Given the description of an element on the screen output the (x, y) to click on. 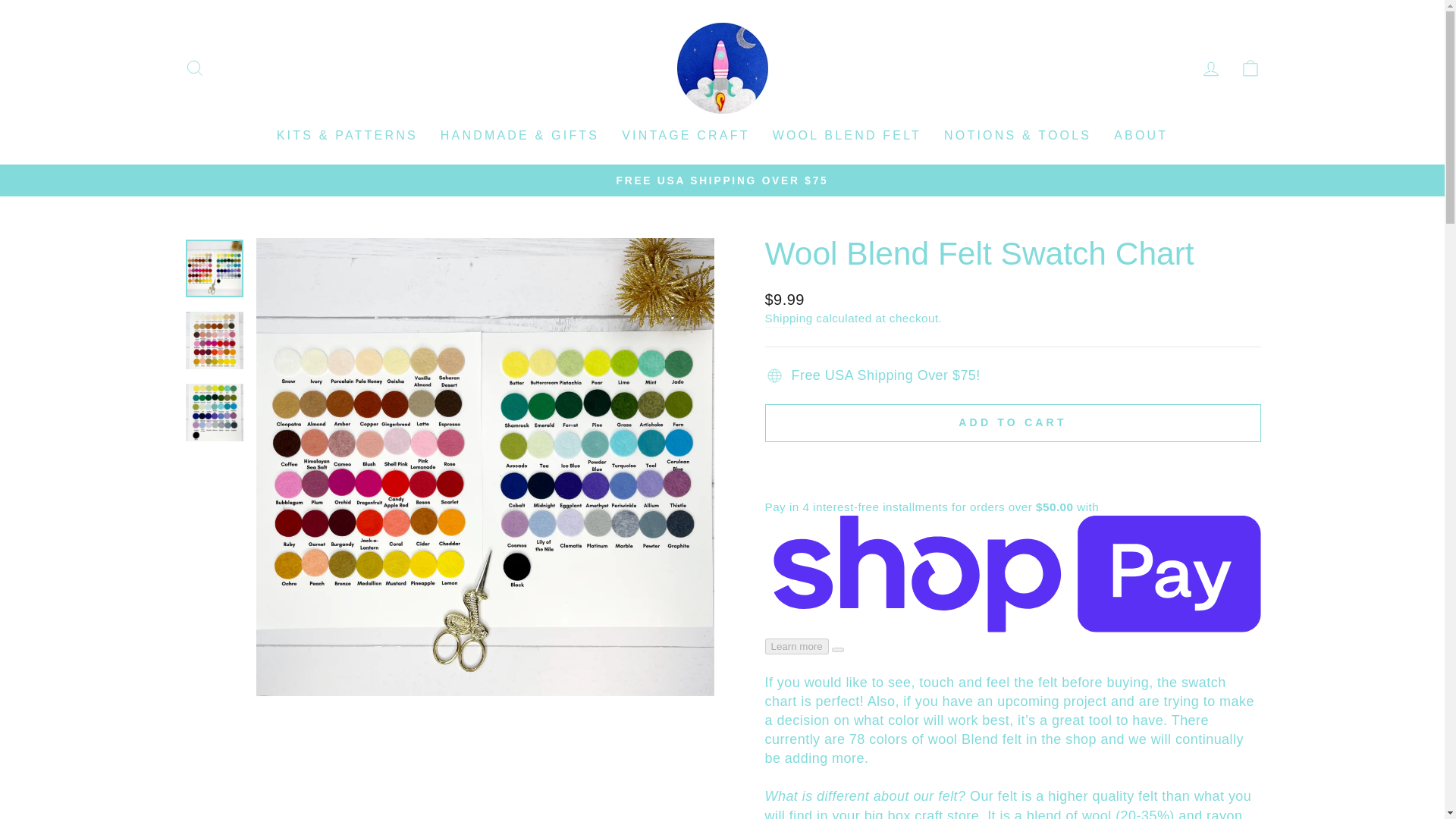
ICON-SEARCH (194, 67)
WOOL BLEND FELT (847, 135)
Shipping (788, 318)
ACCOUNT (1249, 67)
VINTAGE CRAFT (1210, 68)
ADD TO CART (685, 135)
ICON-BAG-MINIMAL (1012, 423)
ABOUT (1249, 67)
